Given the description of an element on the screen output the (x, y) to click on. 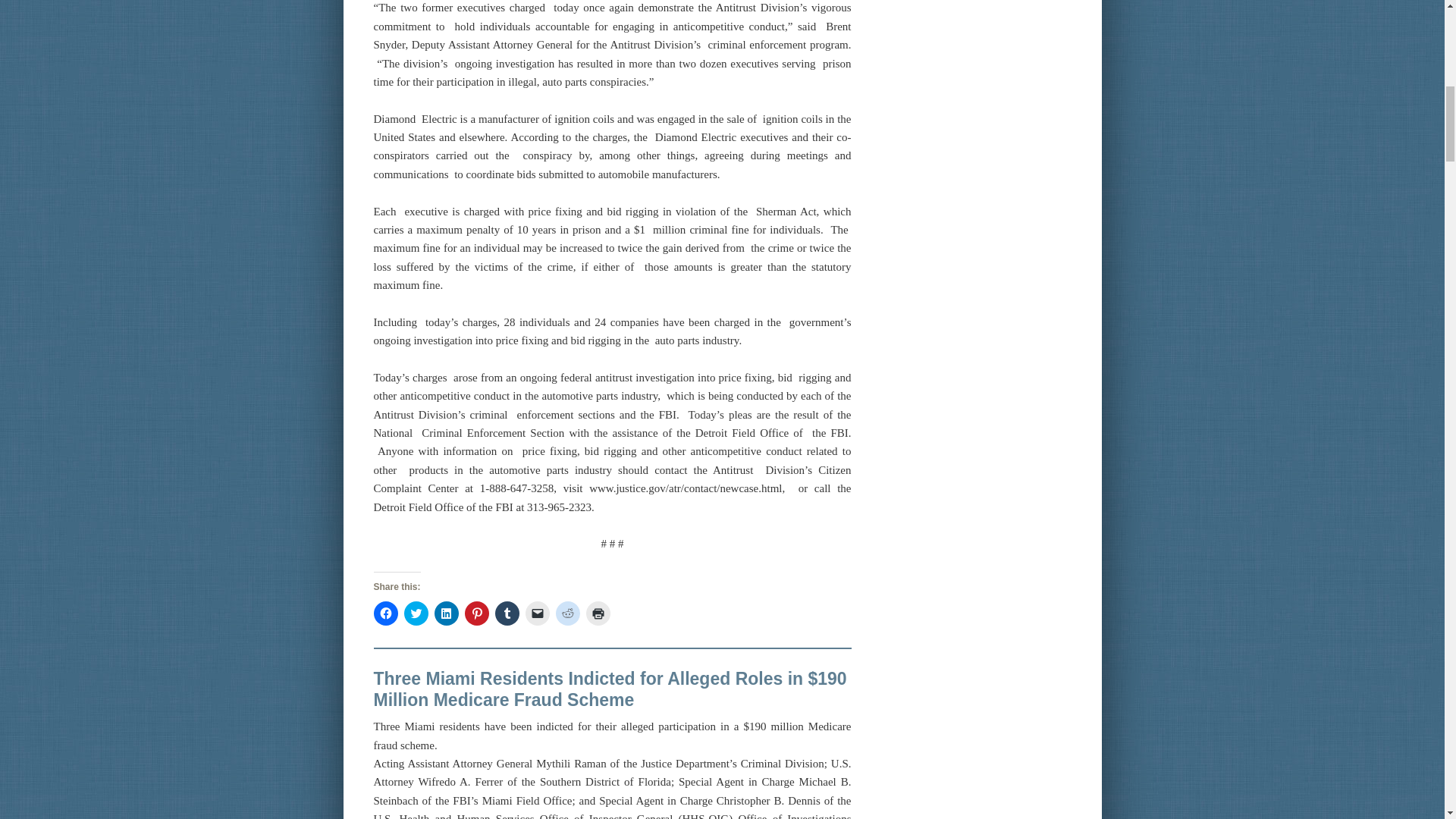
Click to email a link to a friend (536, 613)
Click to share on Pinterest (475, 613)
Click to share on Reddit (566, 613)
Click to share on LinkedIn (445, 613)
Click to print (597, 613)
Click to share on Tumblr (506, 613)
Click to share on Twitter (415, 613)
Click to share on Facebook (384, 613)
